Given the description of an element on the screen output the (x, y) to click on. 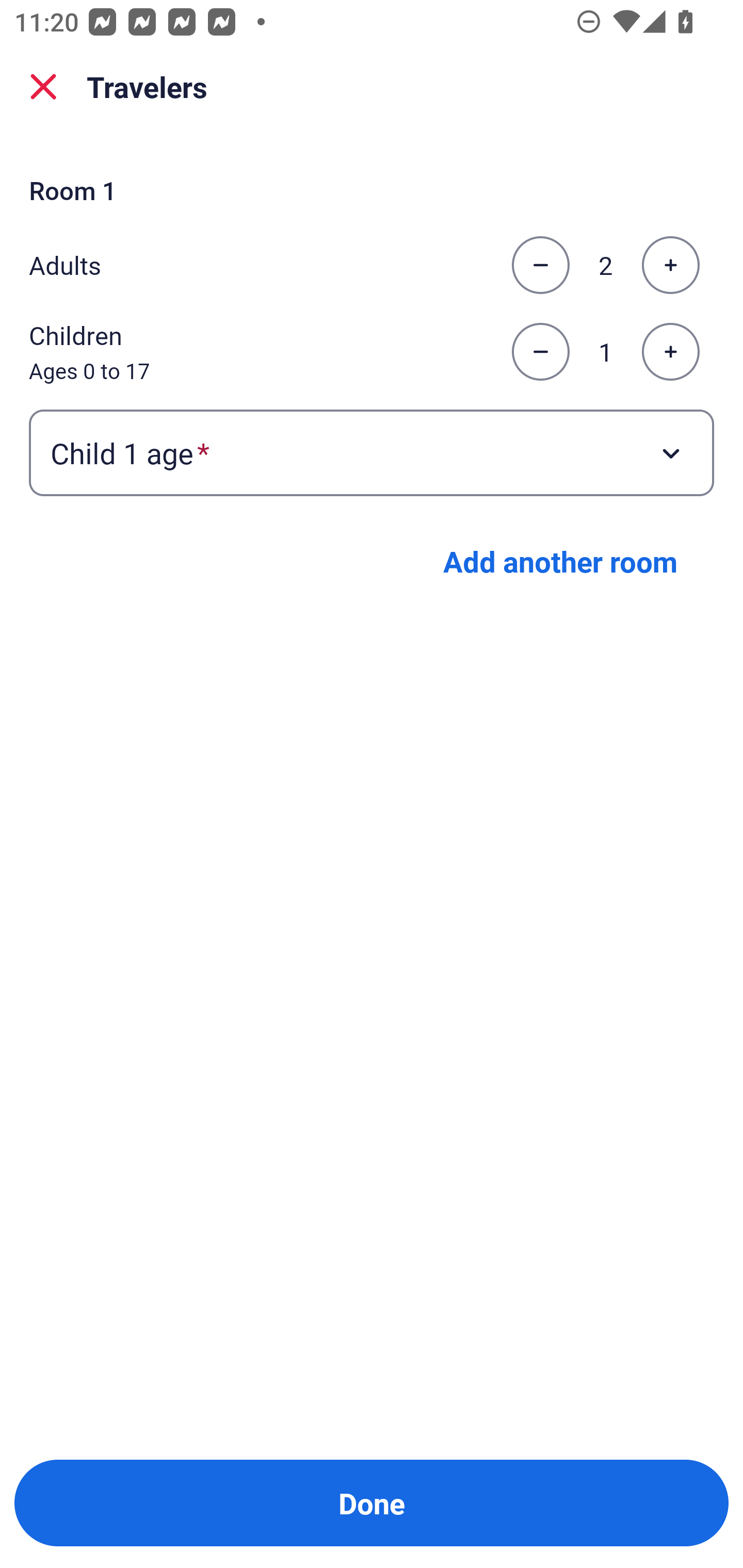
close (43, 86)
Decrease the number of adults (540, 264)
Increase the number of adults (670, 264)
Decrease the number of children (540, 351)
Increase the number of children (670, 351)
Child 1 age required Button (371, 452)
Add another room (560, 561)
Done (371, 1502)
